Given the description of an element on the screen output the (x, y) to click on. 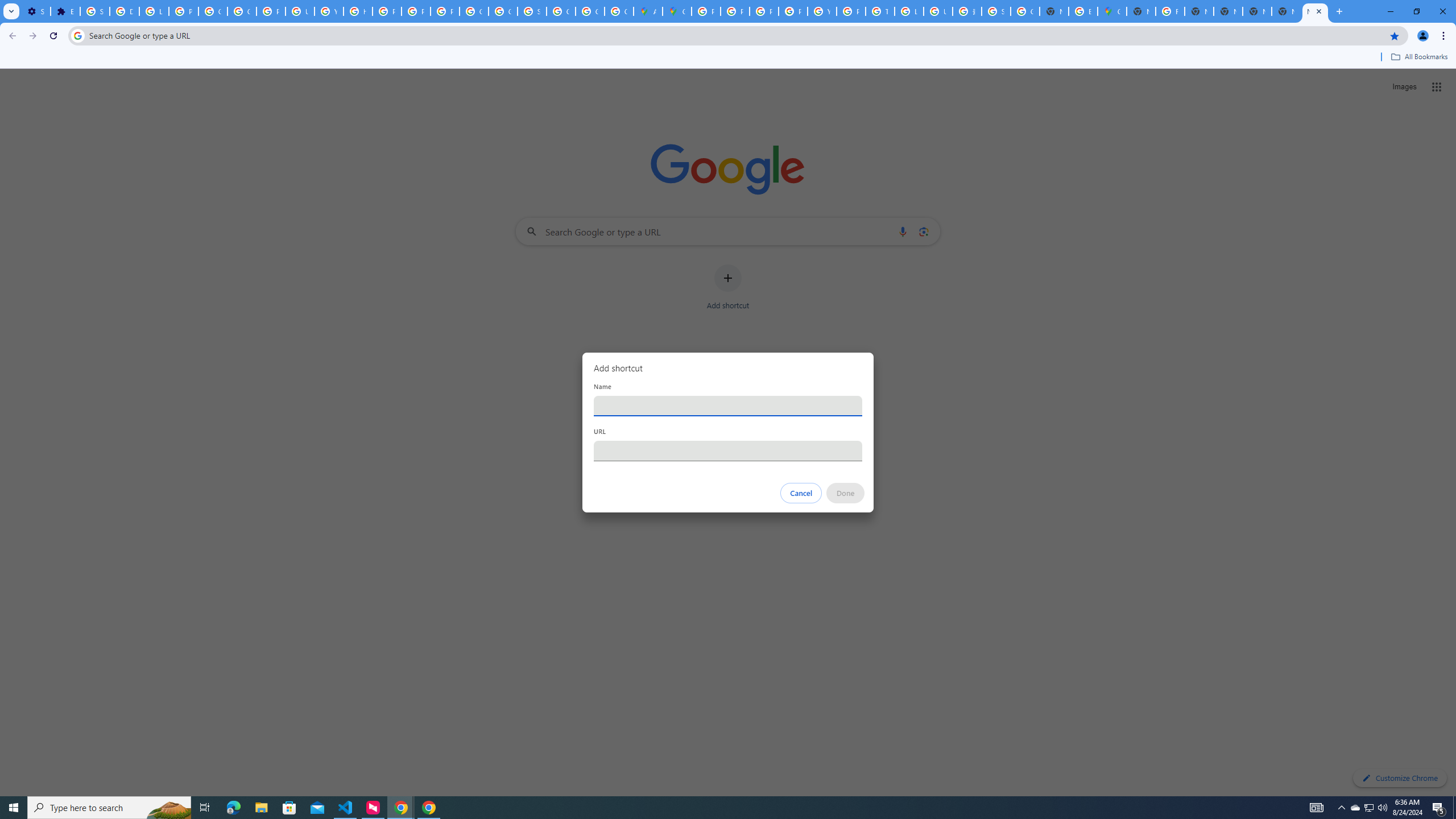
Create your Google Account (619, 11)
New Tab (1315, 11)
Explore new street-level details - Google Maps Help (1082, 11)
Name (727, 405)
Cancel (801, 493)
Google Account Help (212, 11)
Privacy Help Center - Policies Help (734, 11)
